Given the description of an element on the screen output the (x, y) to click on. 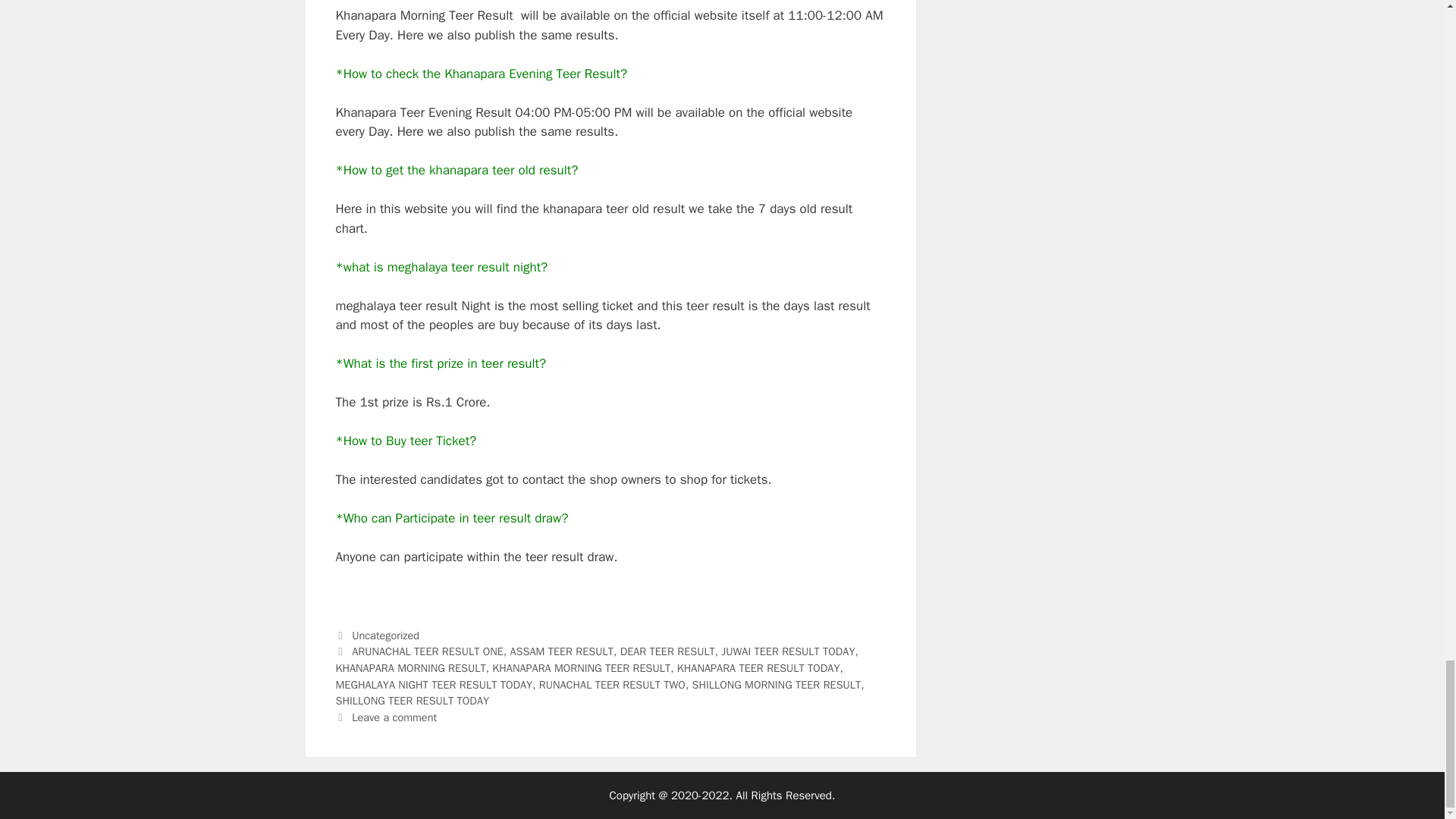
DEAR TEER RESULT (667, 651)
KHANAPARA MORNING RESULT (409, 667)
ARUNACHAL TEER RESULT ONE (427, 651)
SHILLONG MORNING TEER RESULT (777, 684)
RUNACHAL TEER RESULT TWO (611, 684)
KHANAPARA MORNING TEER RESULT (580, 667)
Uncategorized (385, 635)
Leave a comment (394, 716)
MEGHALAYA NIGHT TEER RESULT TODAY (433, 684)
KHANAPARA TEER RESULT TODAY (758, 667)
JUWAI TEER RESULT TODAY (789, 651)
SHILLONG TEER RESULT TODAY (411, 700)
ASSAM TEER RESULT (560, 651)
